Given the description of an element on the screen output the (x, y) to click on. 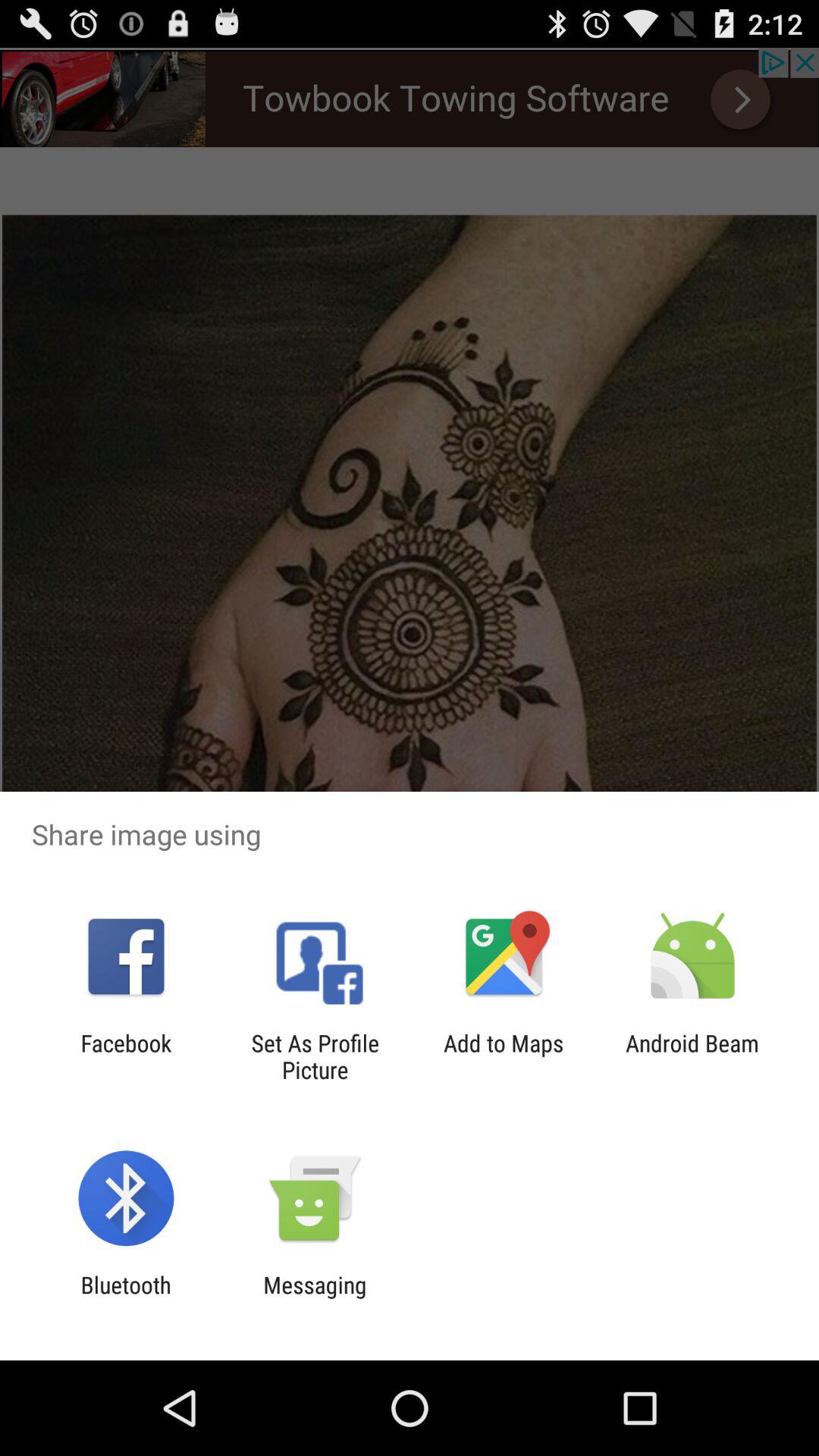
jump until the set as profile app (314, 1056)
